Given the description of an element on the screen output the (x, y) to click on. 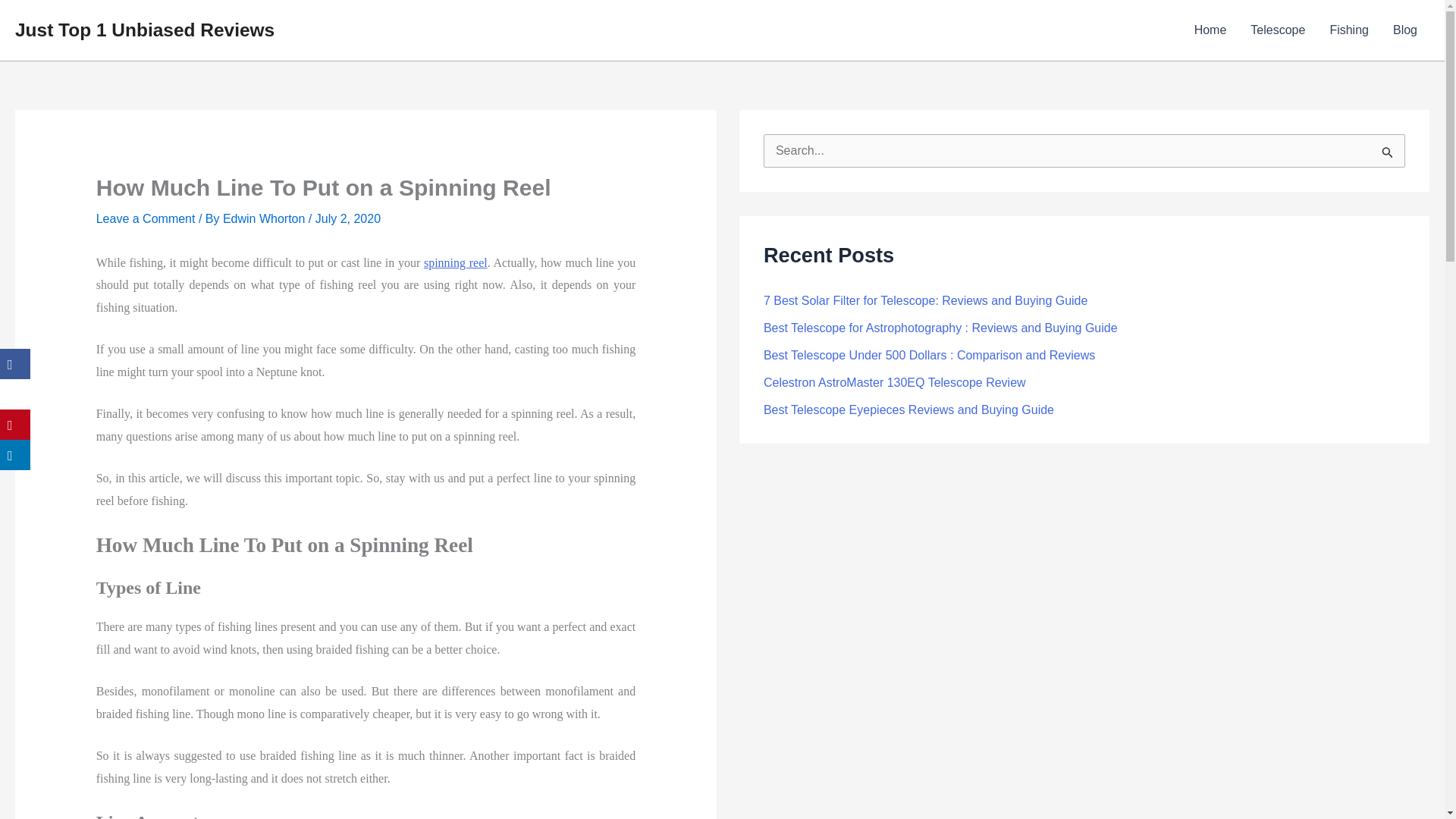
Fishing (1348, 30)
Home (1210, 30)
7 Best Solar Filter for Telescope: Reviews and Buying Guide (924, 300)
Telescope (1278, 30)
Celestron AstroMaster 130EQ Telescope Review (894, 382)
Leave a Comment (145, 218)
Best Telescope Eyepieces Reviews and Buying Guide (908, 409)
Edwin Whorton (265, 218)
Just Top 1 Unbiased Reviews (144, 29)
spinning reel (455, 262)
Best Telescope Under 500 Dollars : Comparison and Reviews (928, 354)
View all posts by Edwin Whorton (265, 218)
